Given the description of an element on the screen output the (x, y) to click on. 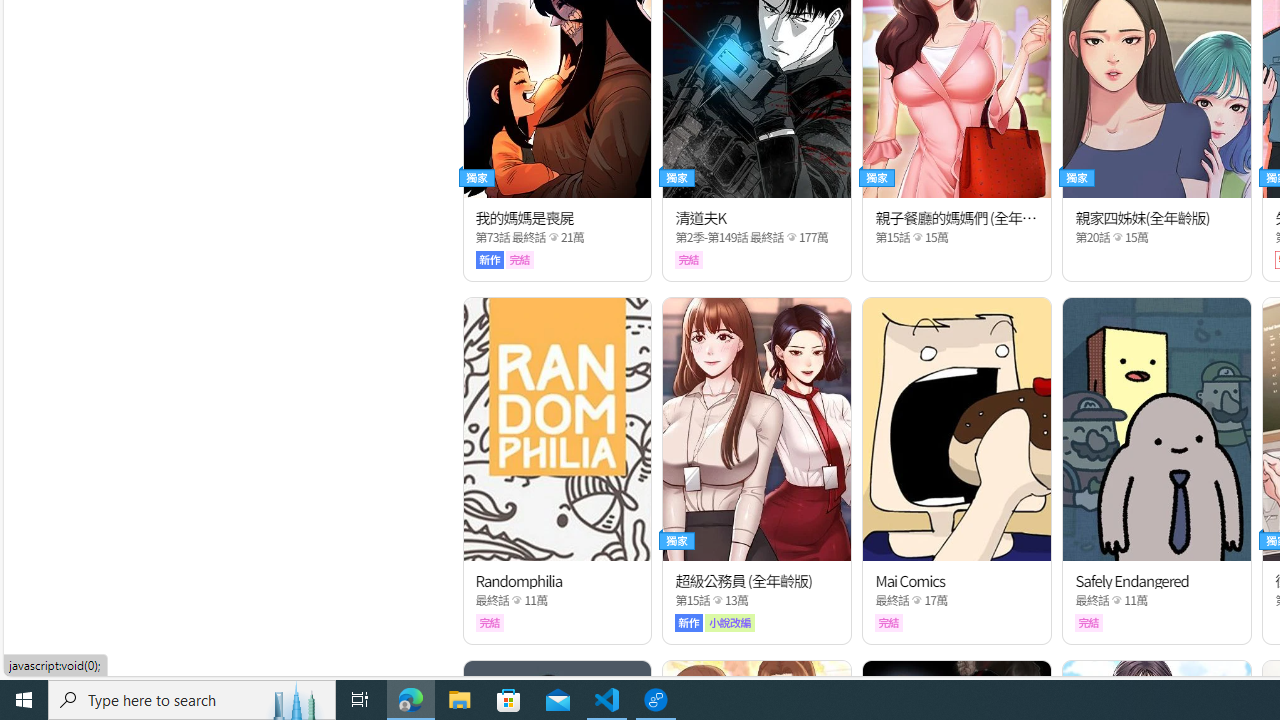
Class: epicon_starpoint (1117, 600)
Class: thumb_img (1156, 428)
